Given the description of an element on the screen output the (x, y) to click on. 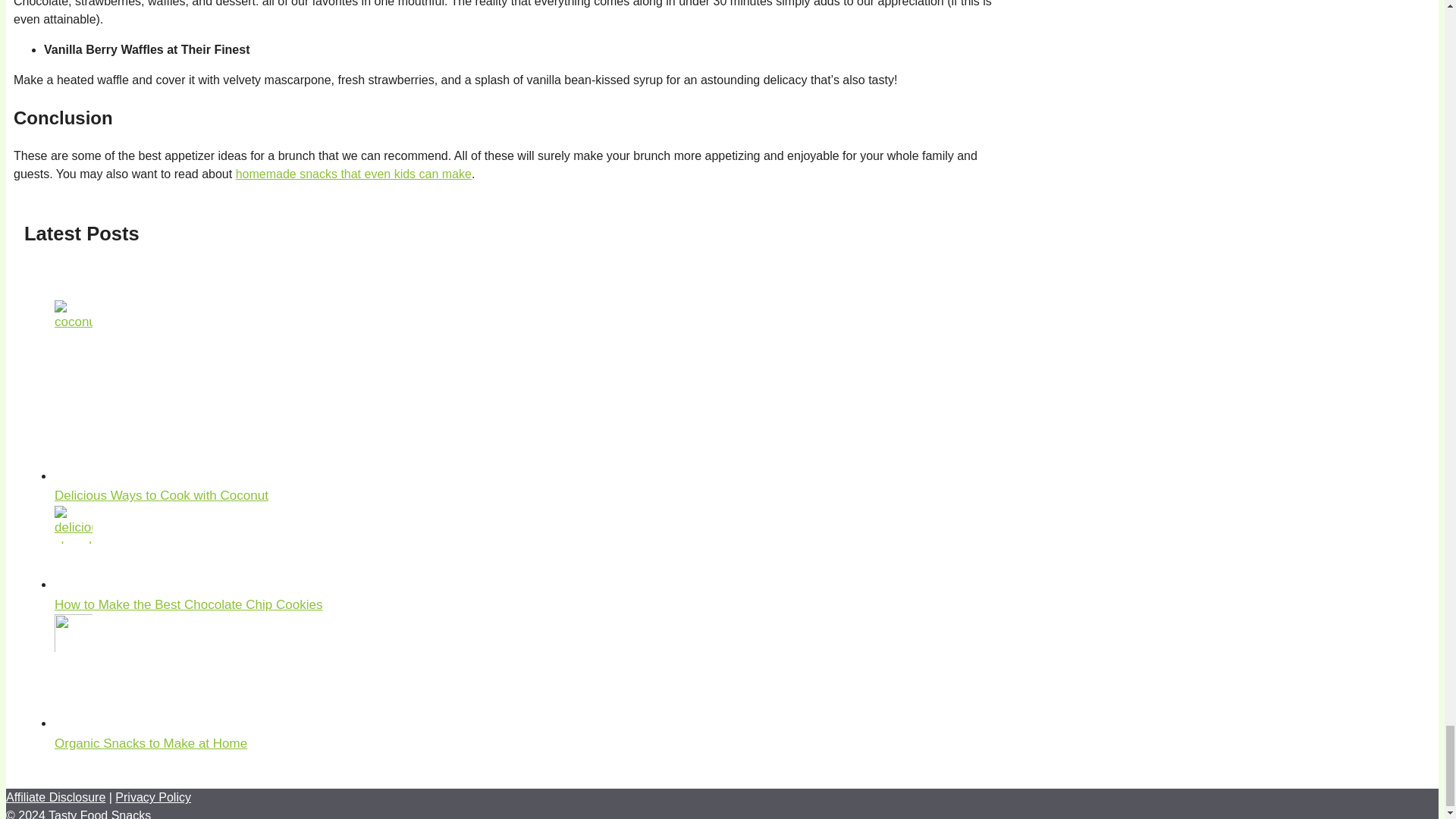
homemade snacks that even kids can make (353, 173)
Affiliate Disclosure (54, 797)
How to Make the Best Chocolate Chip Cookies (188, 604)
Organic Snacks to Make at Home (151, 743)
Delicious Ways to Cook with Coconut (161, 495)
Privacy Policy (152, 797)
